Given the description of an element on the screen output the (x, y) to click on. 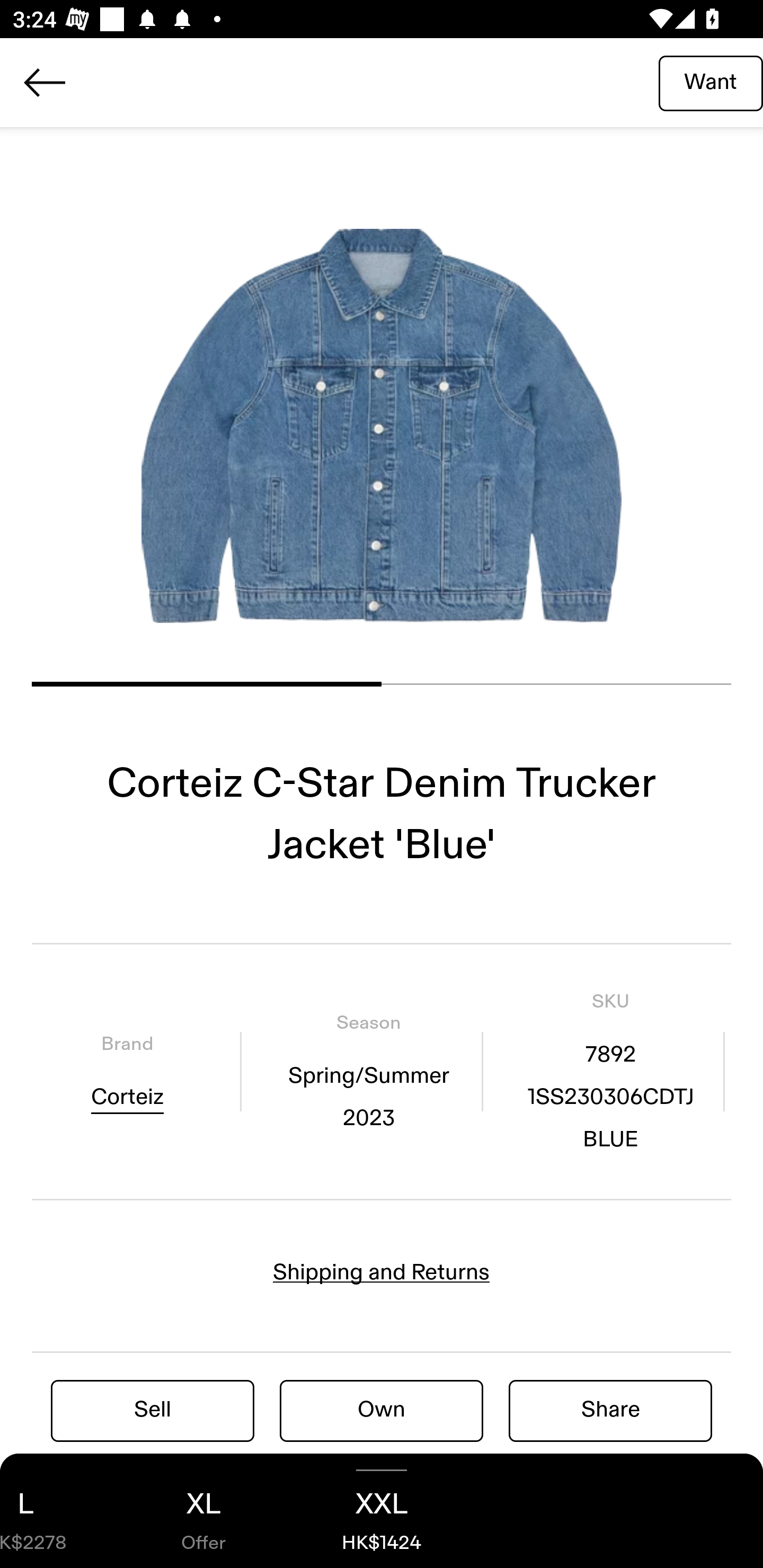
Want (710, 82)
Brand Corteiz (126, 1070)
Season Spring/Summer 2023 (368, 1070)
SKU 7892 1SS230306CDTJ BLUE (609, 1070)
Shipping and Returns (381, 1272)
Sell (152, 1410)
Own (381, 1410)
Share (609, 1410)
L HK$2278 (57, 1510)
XL Offer (203, 1510)
XXL HK$1424 (381, 1510)
